Given the description of an element on the screen output the (x, y) to click on. 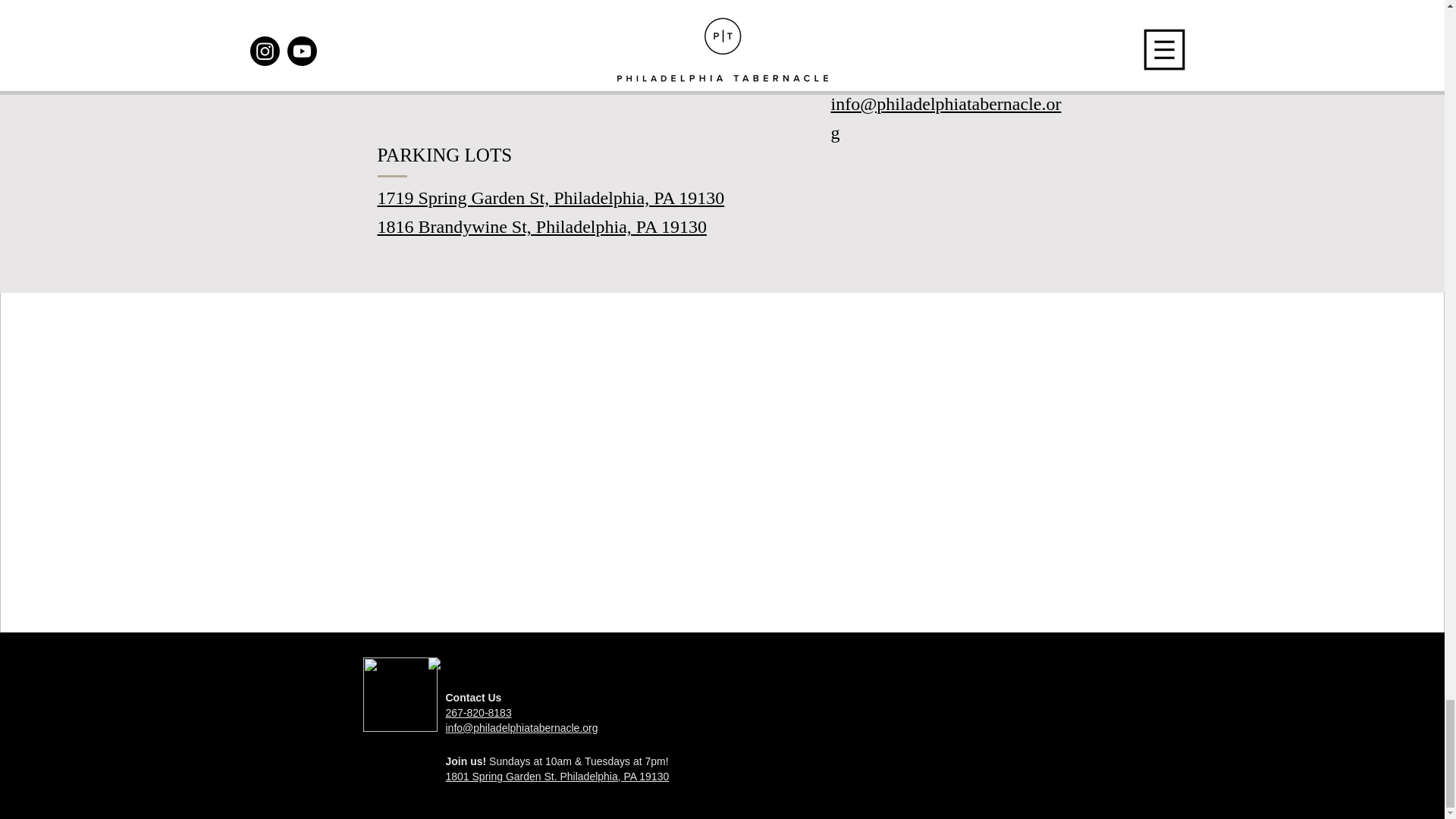
1719 Spring Garden St, Philadelphia, PA 19130 (551, 198)
1801 Spring Garden St. Philadelphia, PA 19130 (551, 74)
267-820-8183 (478, 712)
000PT Brand Mark-02.png (399, 694)
267-820-818 (877, 74)
1816 Brandywine St, Philadelphia, PA 19130 (541, 226)
1801 Spring Garden St. Philadelphia, PA 19130 (557, 776)
